Given the description of an element on the screen output the (x, y) to click on. 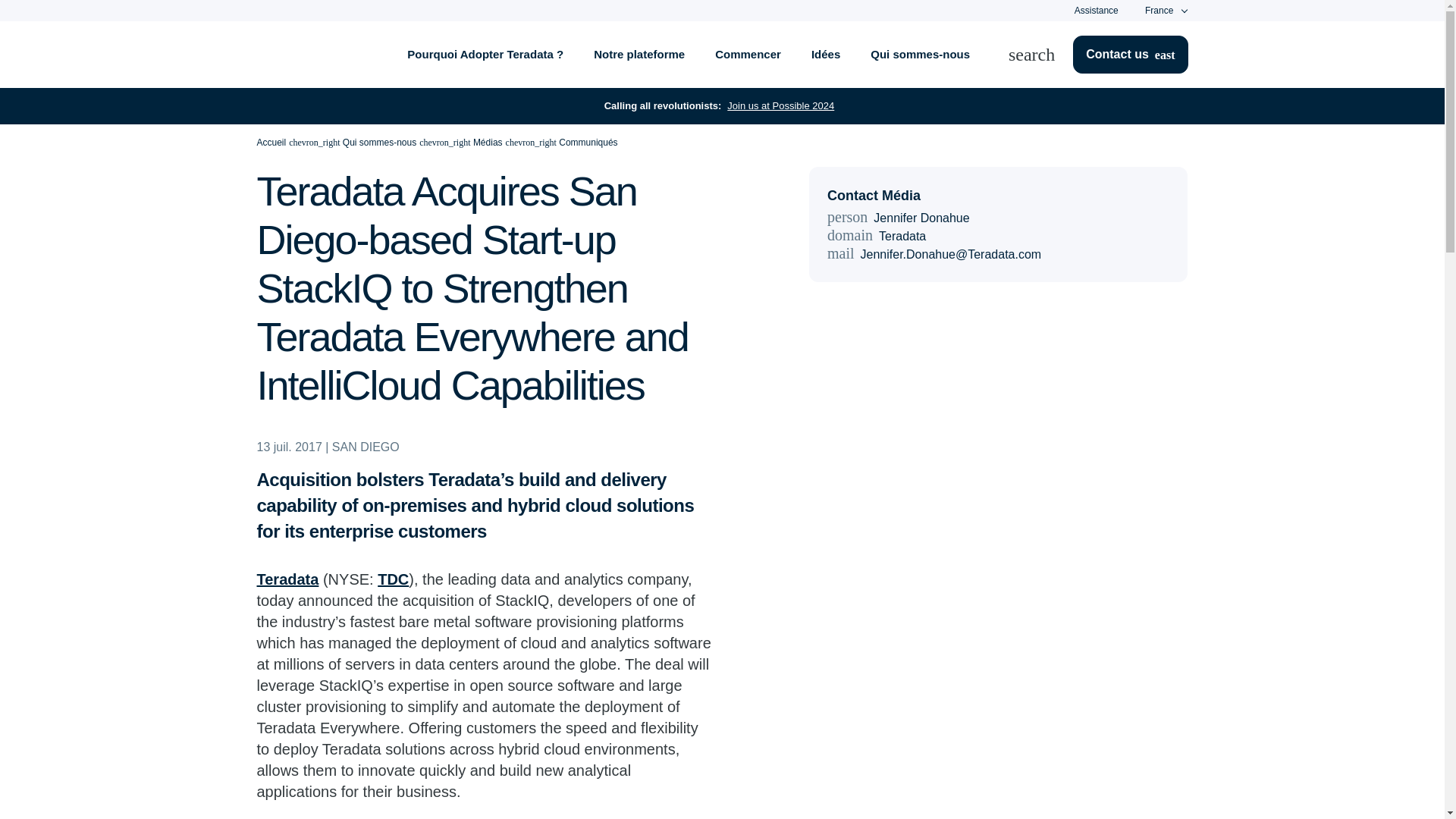
France (1159, 10)
Qui sommes-nous (920, 54)
Assistance (1096, 9)
Pourquoi Adopter Teradata ? (484, 54)
Contact us (1130, 54)
Commencer (748, 54)
search (1041, 54)
Notre plateforme (639, 54)
